Given the description of an element on the screen output the (x, y) to click on. 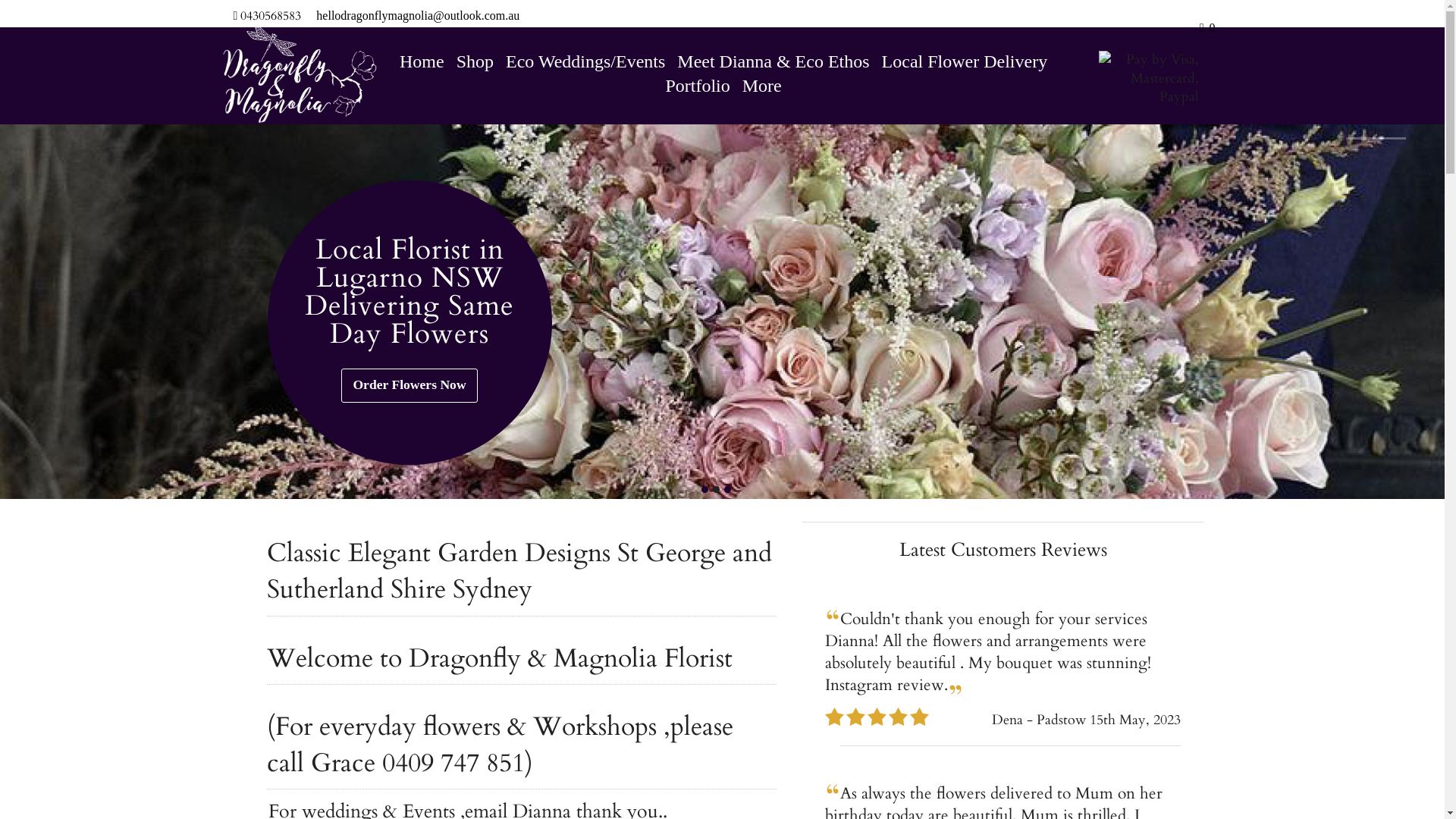
Portfolio Element type: text (696, 85)
Order Flowers Now Element type: text (408, 385)
0 Element type: text (1207, 27)
More Element type: text (761, 85)
Home Element type: text (421, 61)
Eco Weddings/Events Element type: text (585, 61)
Local Flower Delivery Element type: text (964, 61)
hellodragonflymagnolia@outlook.com.au Element type: text (417, 15)
Meet Dianna & Eco Ethos Element type: text (773, 61)
Shop Element type: text (474, 61)
